Given the description of an element on the screen output the (x, y) to click on. 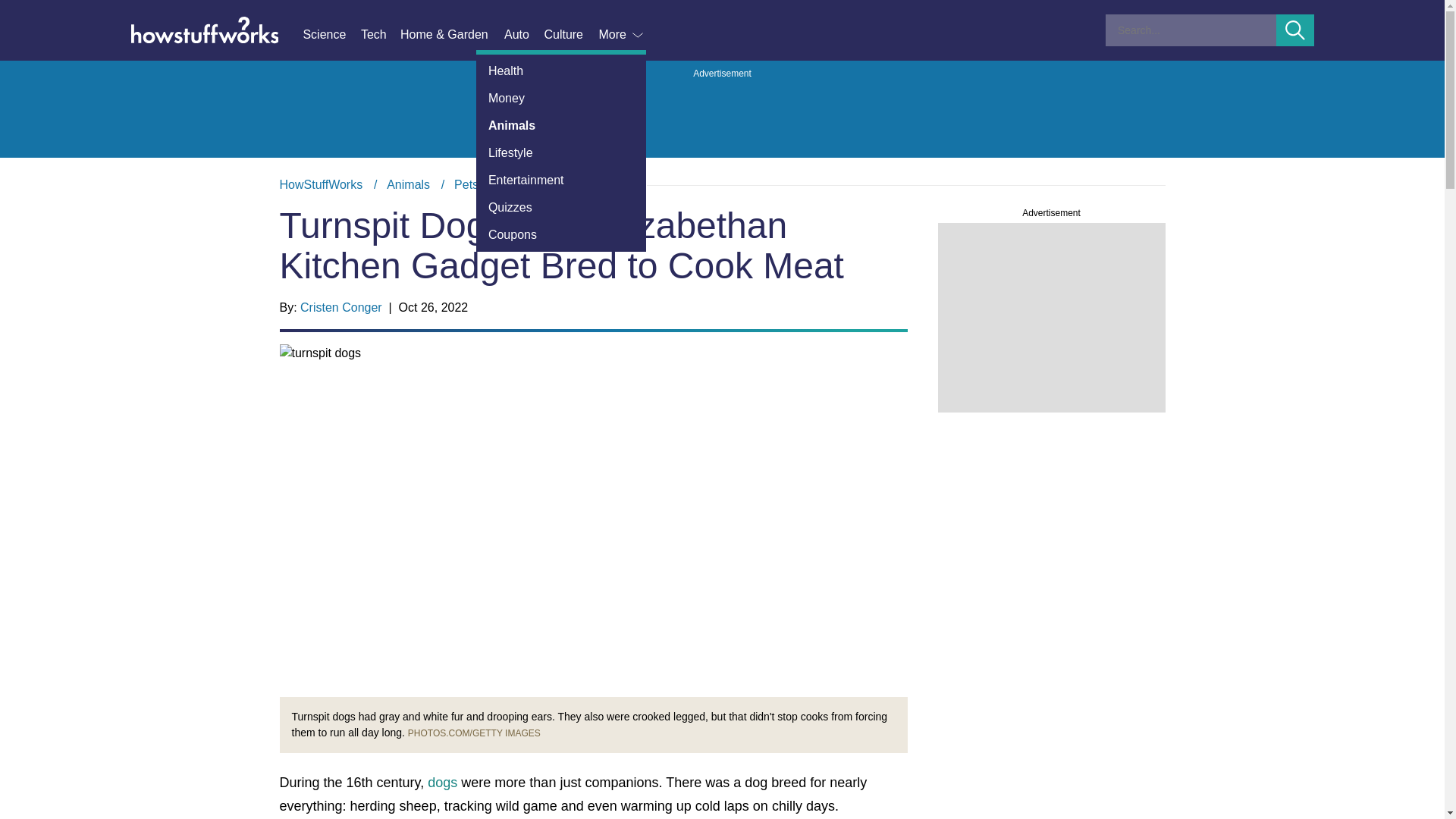
More (621, 34)
Animals (408, 184)
Tech (380, 34)
Coupons (561, 234)
Lifestyle (561, 153)
Submit Search (1295, 29)
Health (561, 71)
Animals (561, 125)
Auto (523, 34)
Science (330, 34)
